Given the description of an element on the screen output the (x, y) to click on. 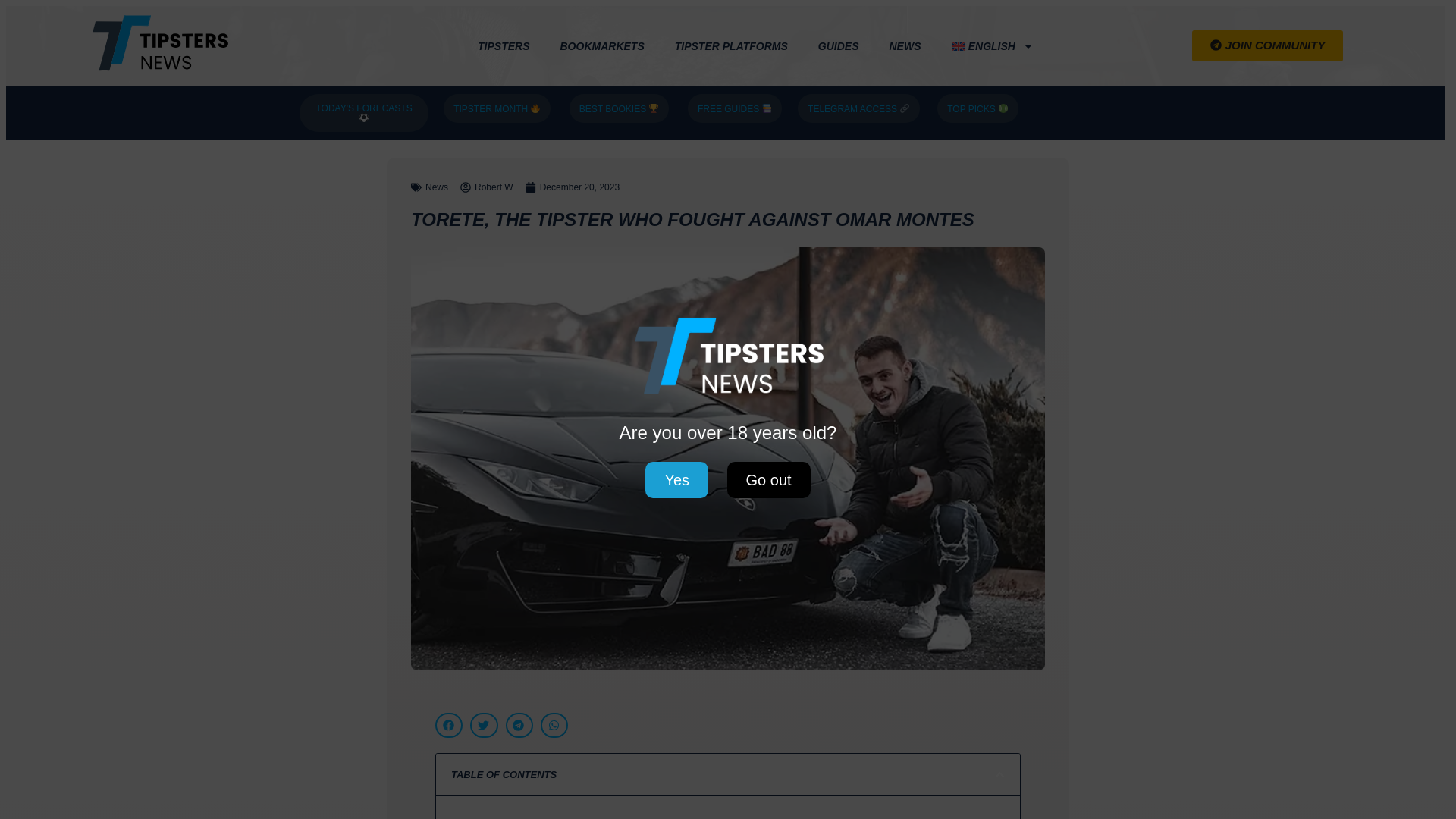
FREE GUIDES (734, 108)
JOIN COMMUNITY (1267, 45)
English (992, 45)
TODAY'S FORECASTS (363, 113)
GUIDES (839, 45)
TIPSTER PLATFORMS (731, 45)
TOP PICKS (977, 108)
TELEGRAM ACCESS (858, 108)
BEST BOOKIES (618, 108)
NEWS (904, 45)
